Given the description of an element on the screen output the (x, y) to click on. 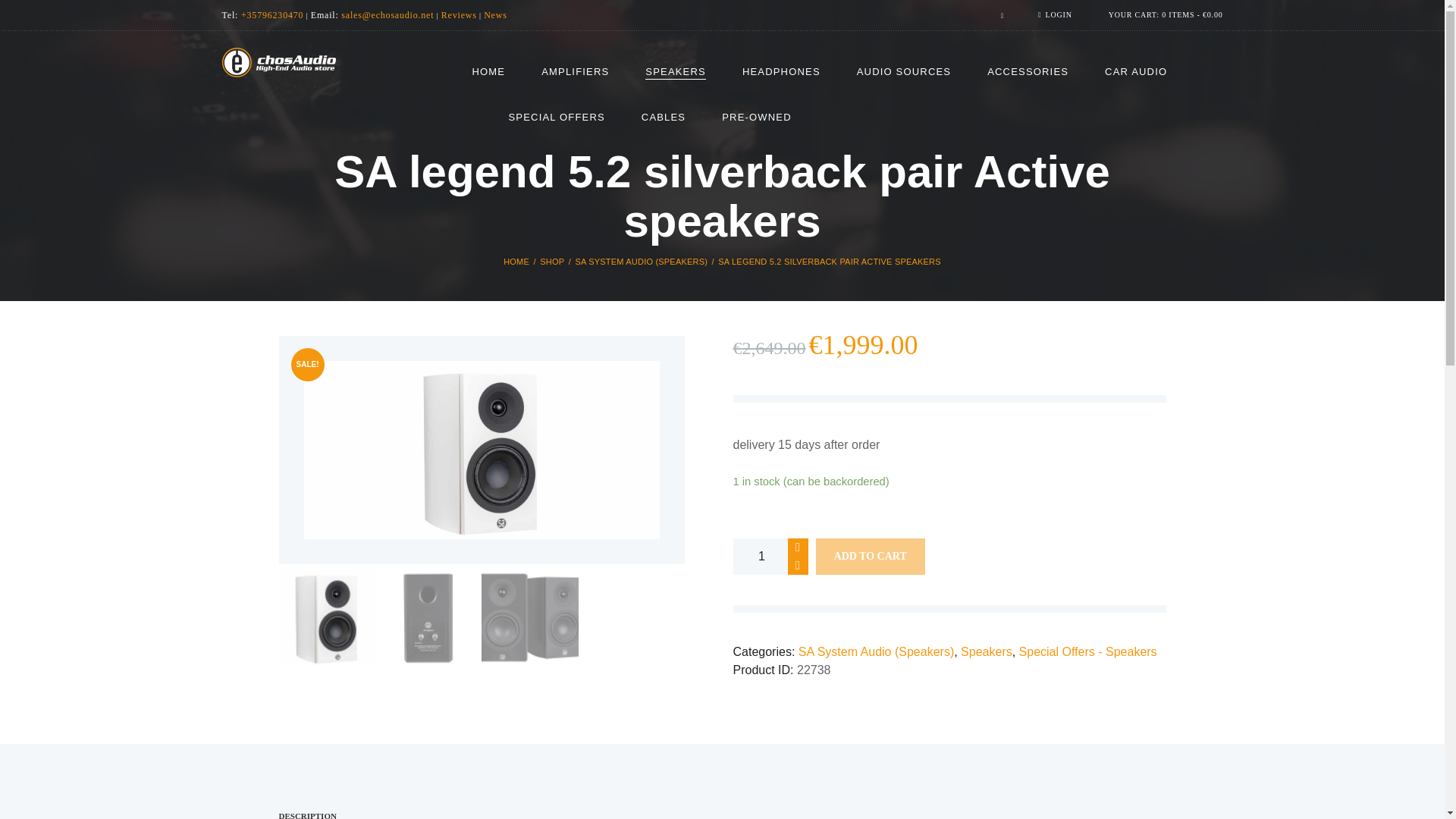
Qty (770, 556)
HEADPHONES (781, 72)
News (494, 14)
SPEAKERS (675, 72)
1 (770, 556)
Open search (997, 15)
SAlegend5sidehvidufront-1.jpg (480, 449)
LOGIN (1054, 14)
HOME (488, 72)
AUDIO SOURCES (903, 72)
AMPLIFIERS (574, 72)
Reviews (459, 14)
